Given the description of an element on the screen output the (x, y) to click on. 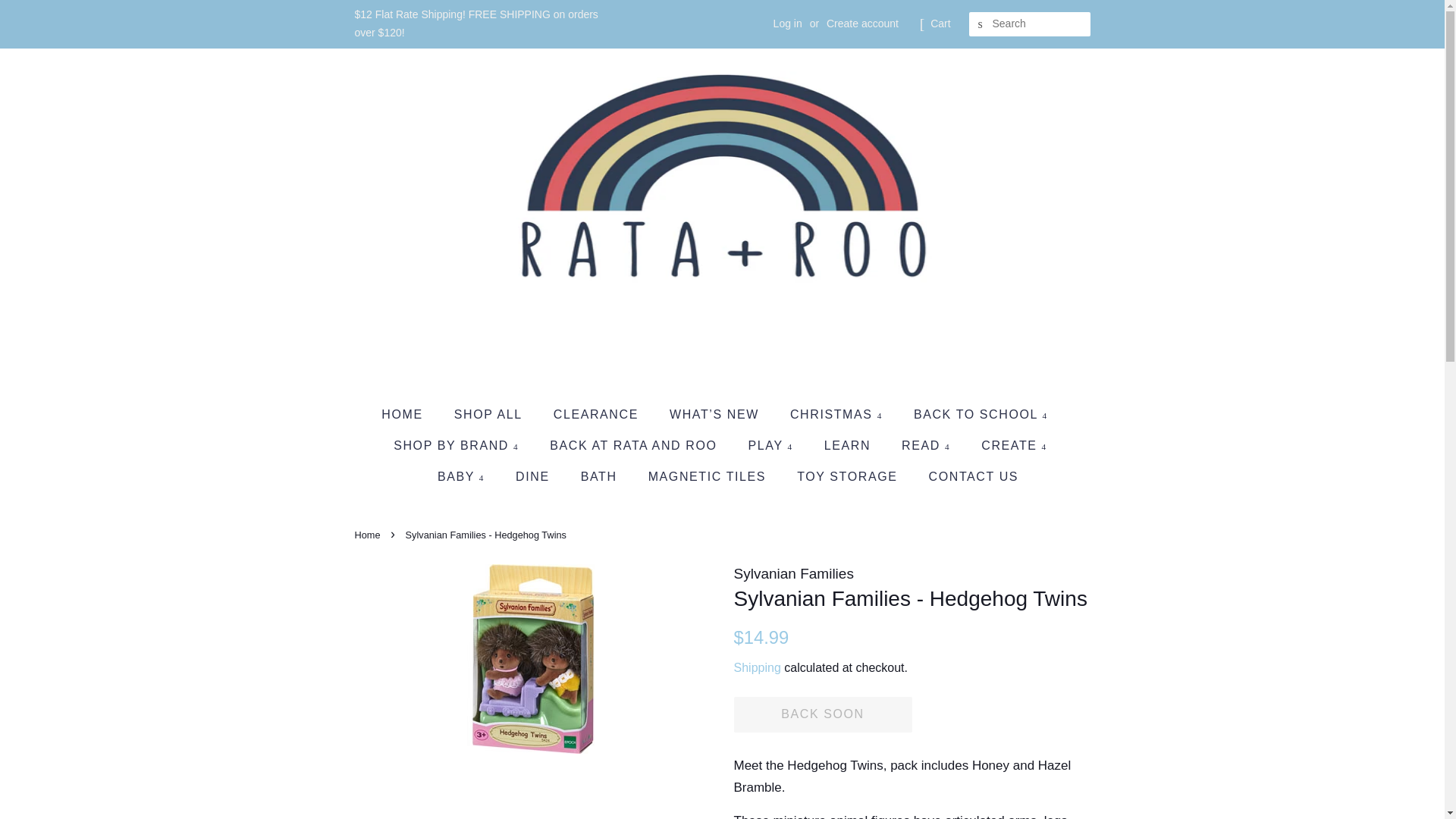
SEARCH (980, 24)
Create account (862, 23)
Log in (787, 23)
Cart (940, 24)
Back to the frontpage (369, 534)
